Given the description of an element on the screen output the (x, y) to click on. 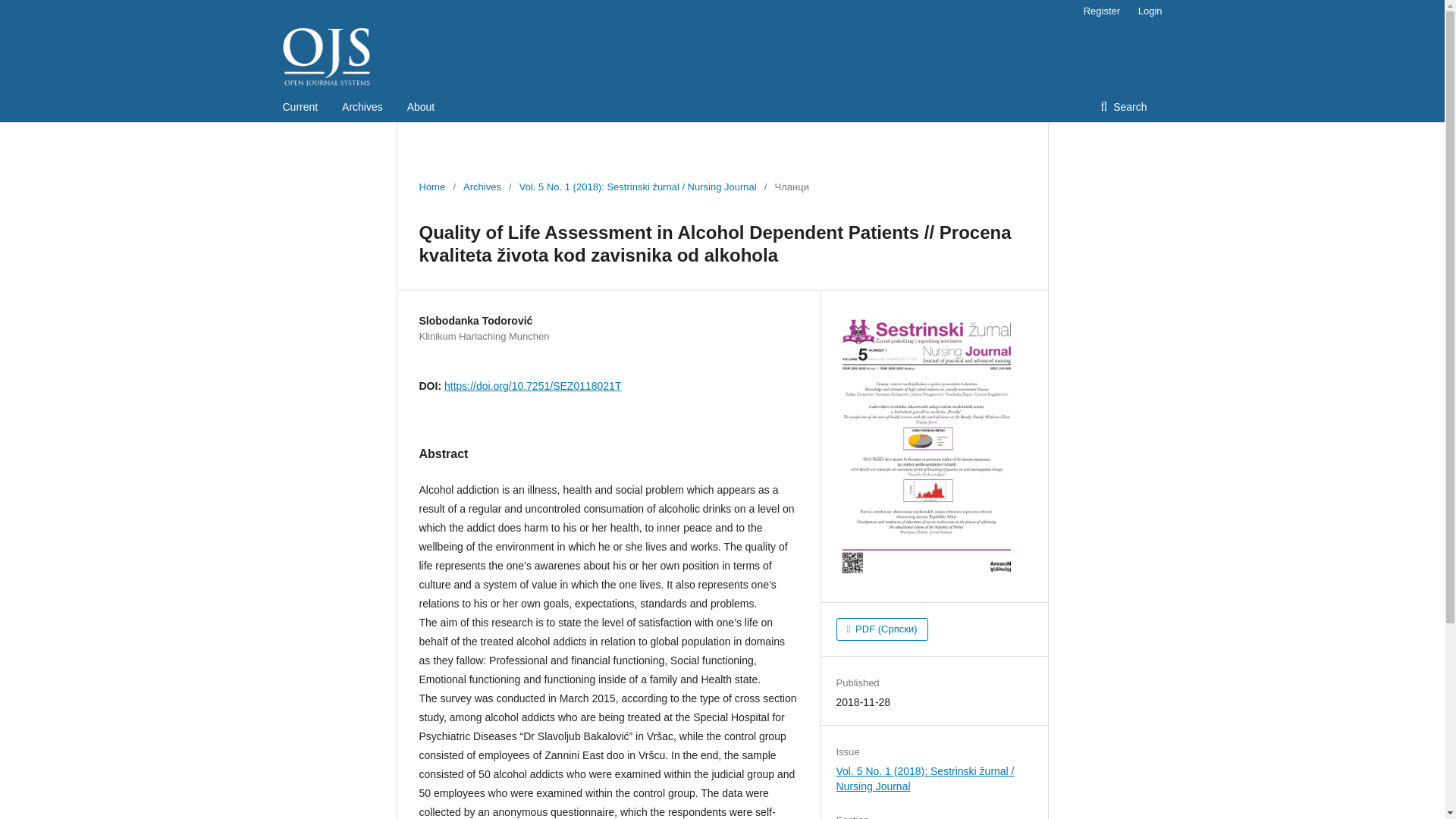
Archives (362, 106)
Register (1100, 11)
Archives (481, 186)
Current (299, 106)
Open Journal Systems (325, 56)
Login (1146, 11)
About (421, 106)
Home (432, 186)
Search (1122, 106)
